Given the description of an element on the screen output the (x, y) to click on. 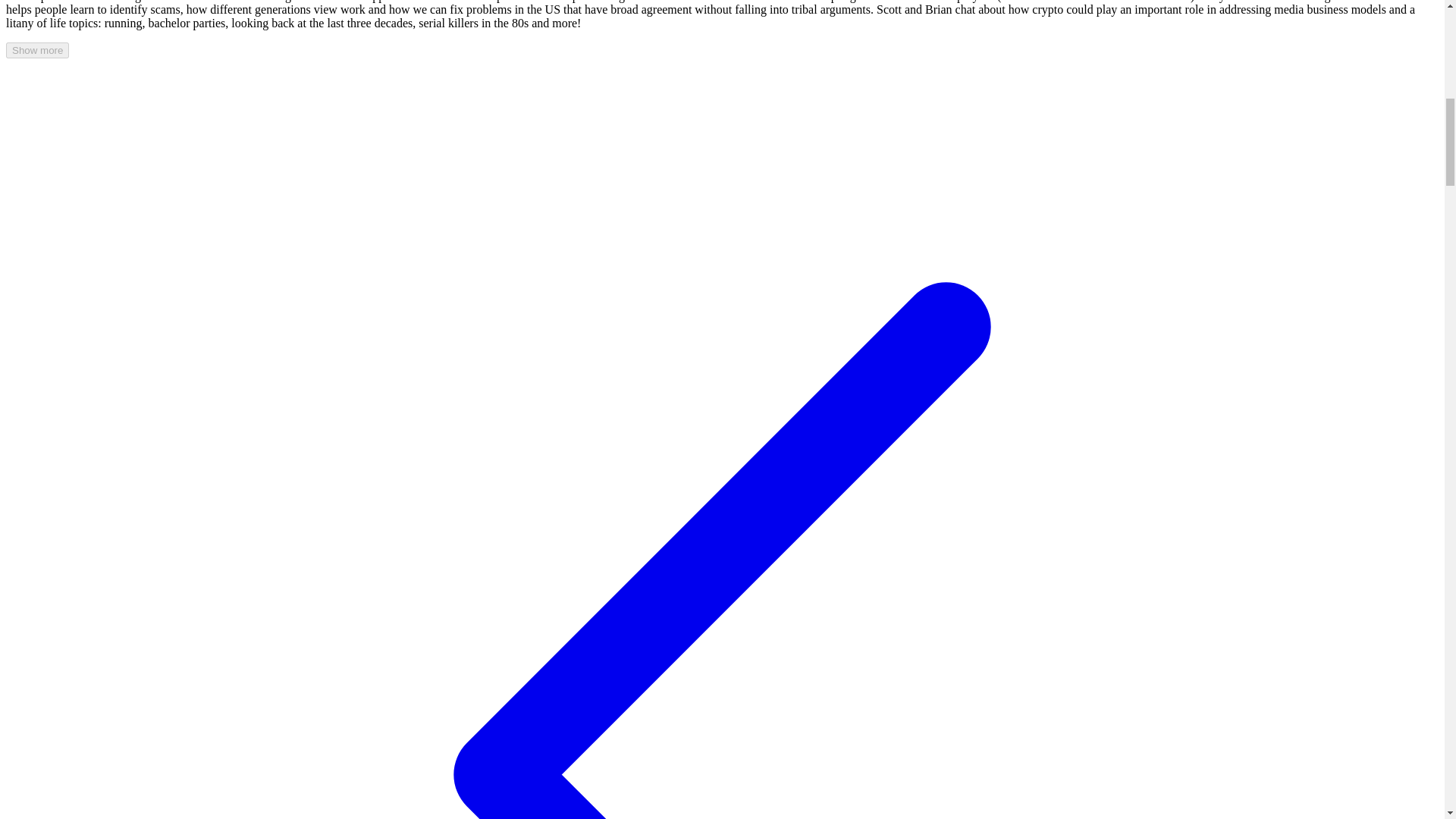
Show more (36, 50)
